Given the description of an element on the screen output the (x, y) to click on. 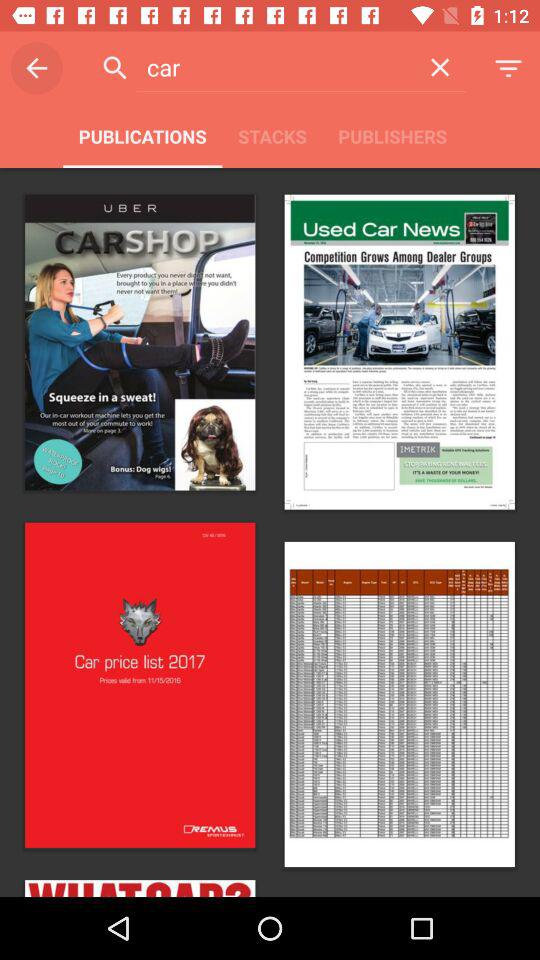
swipe to car icon (274, 67)
